Given the description of an element on the screen output the (x, y) to click on. 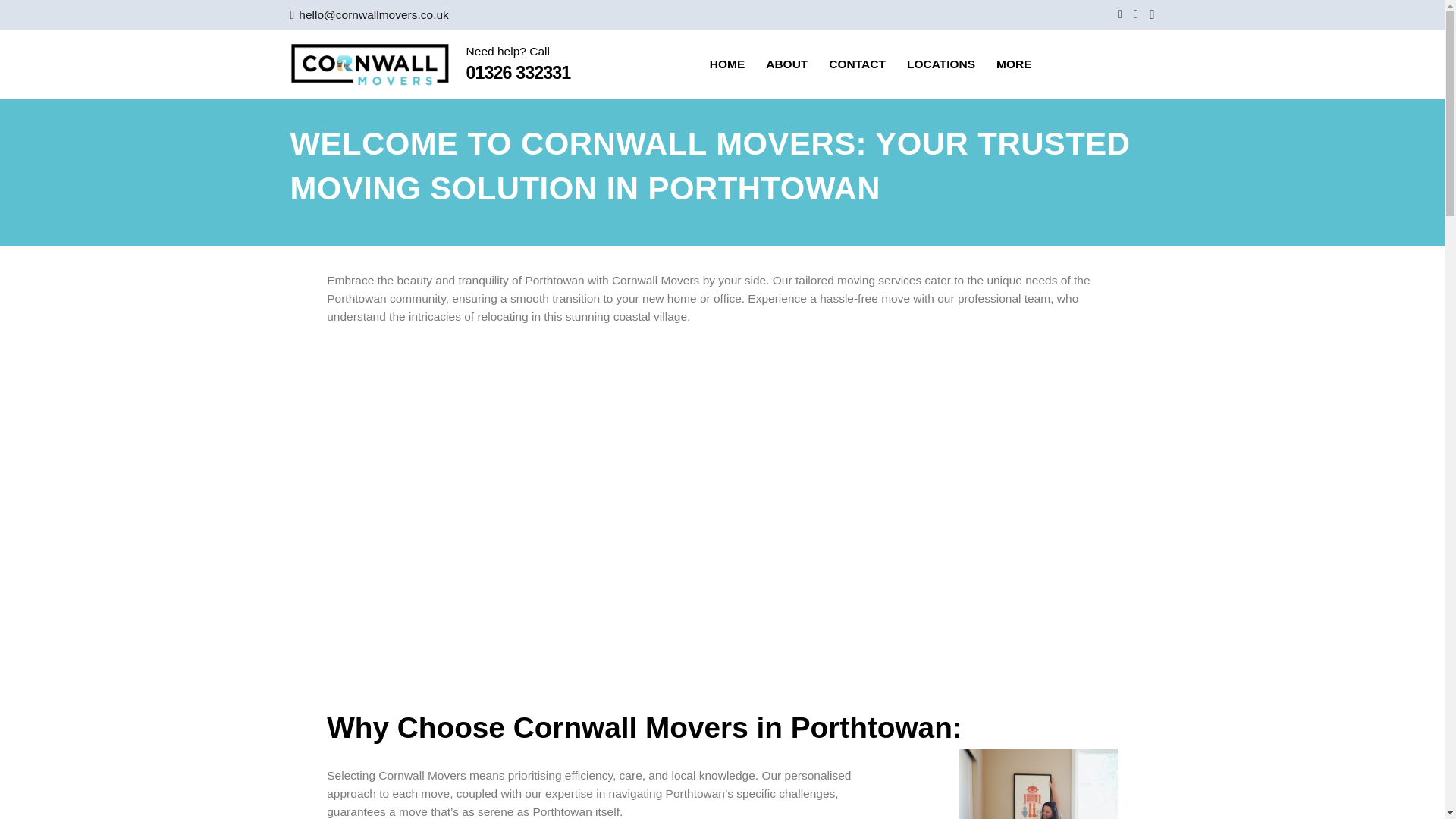
ABOUT (786, 64)
MORE (1013, 64)
LOCATIONS (940, 64)
HOME (726, 64)
01326 332331 (517, 72)
CONTACT (857, 64)
